Given the description of an element on the screen output the (x, y) to click on. 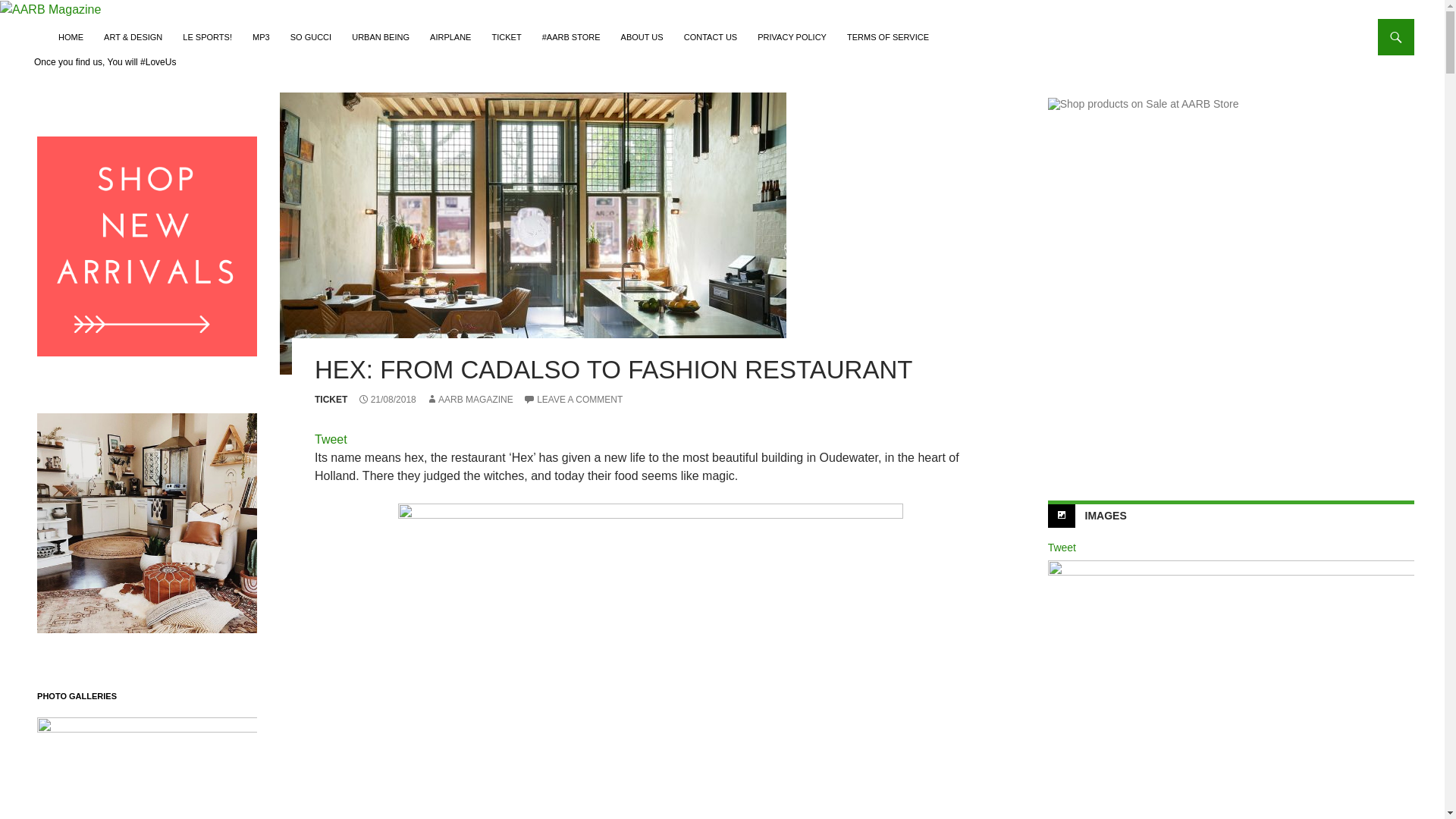
SO GUCCI (310, 36)
Tweet (330, 439)
Search (23, 27)
LEAVE A COMMENT (572, 398)
LE SPORTS! (207, 36)
TICKET (330, 398)
SKIP TO CONTENT (95, 24)
AARB MAGAZINE (469, 398)
Shop products on Sale at AARB Store (1230, 280)
Tweet (1061, 547)
